Given the description of an element on the screen output the (x, y) to click on. 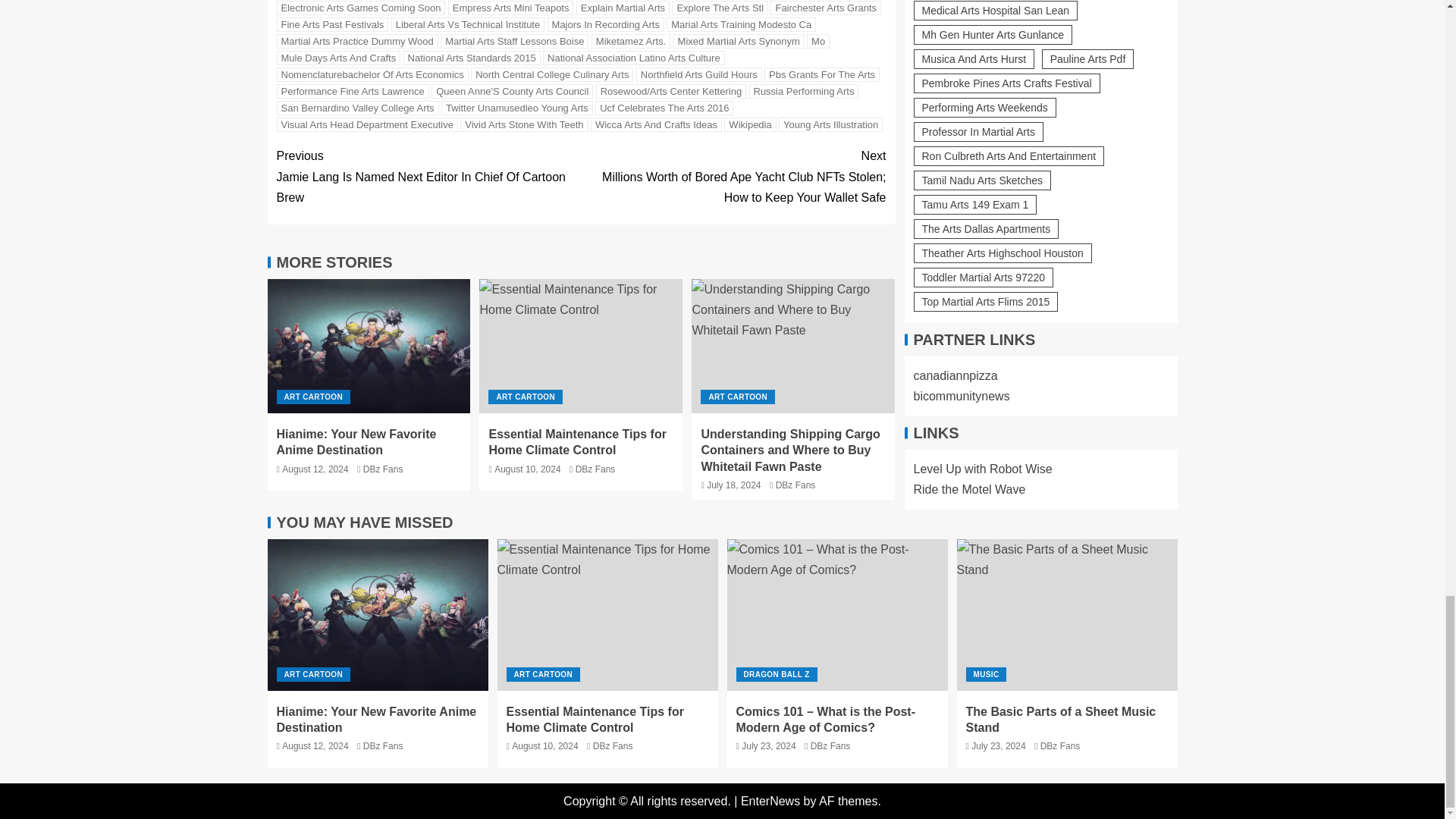
The Basic Parts of a Sheet Music Stand (1066, 614)
Essential Maintenance Tips for Home Climate Control (580, 346)
Hianime: Your New Favorite Anime Destination (368, 346)
Hianime: Your New Favorite Anime Destination (376, 614)
Essential Maintenance Tips for Home Climate Control (607, 614)
